Given the description of an element on the screen output the (x, y) to click on. 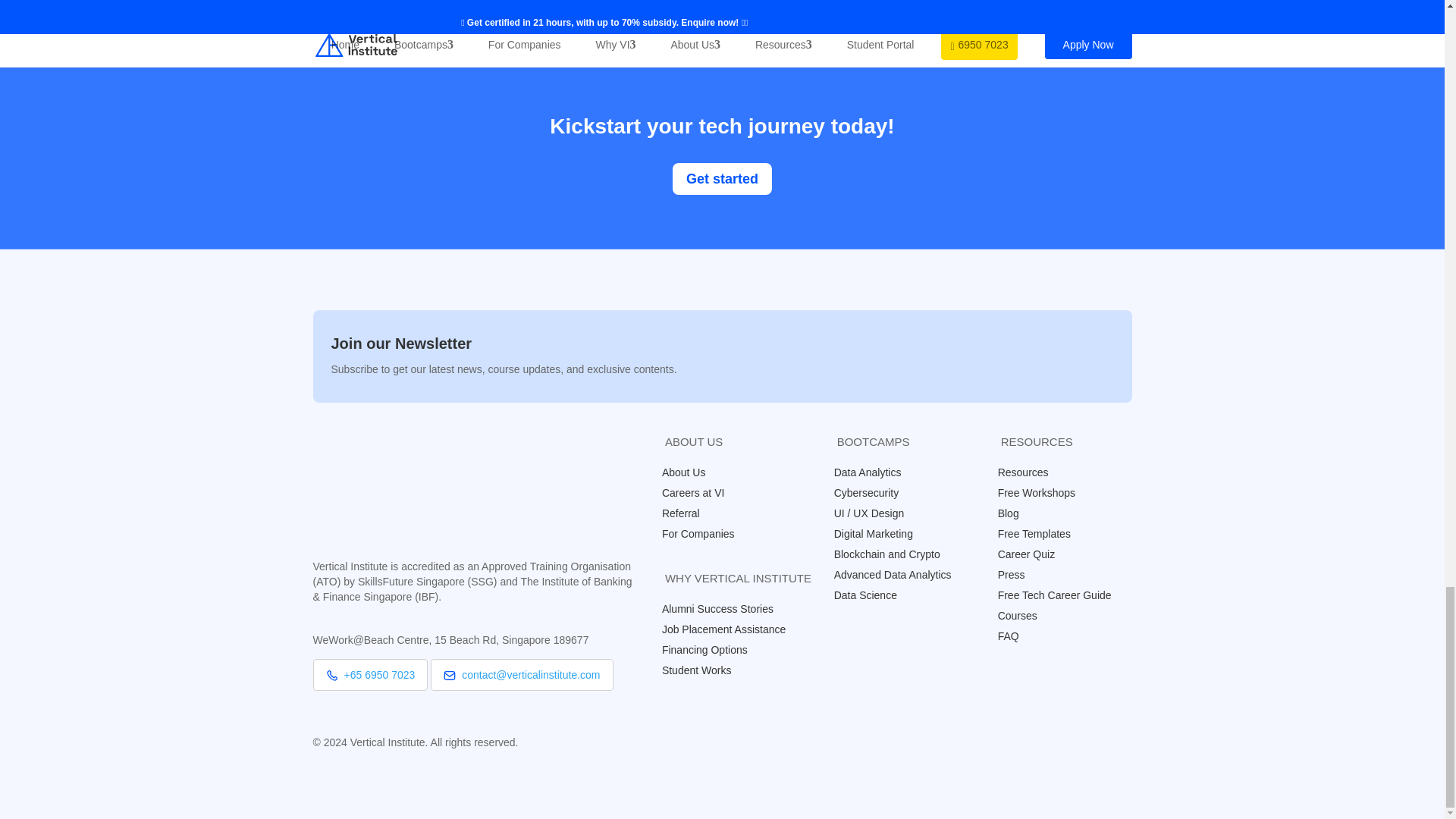
Alumni Success Stories (725, 608)
About Us (691, 472)
Careers at VI (700, 492)
For Companies (705, 533)
Referral (688, 512)
Get started (721, 178)
